Given the description of an element on the screen output the (x, y) to click on. 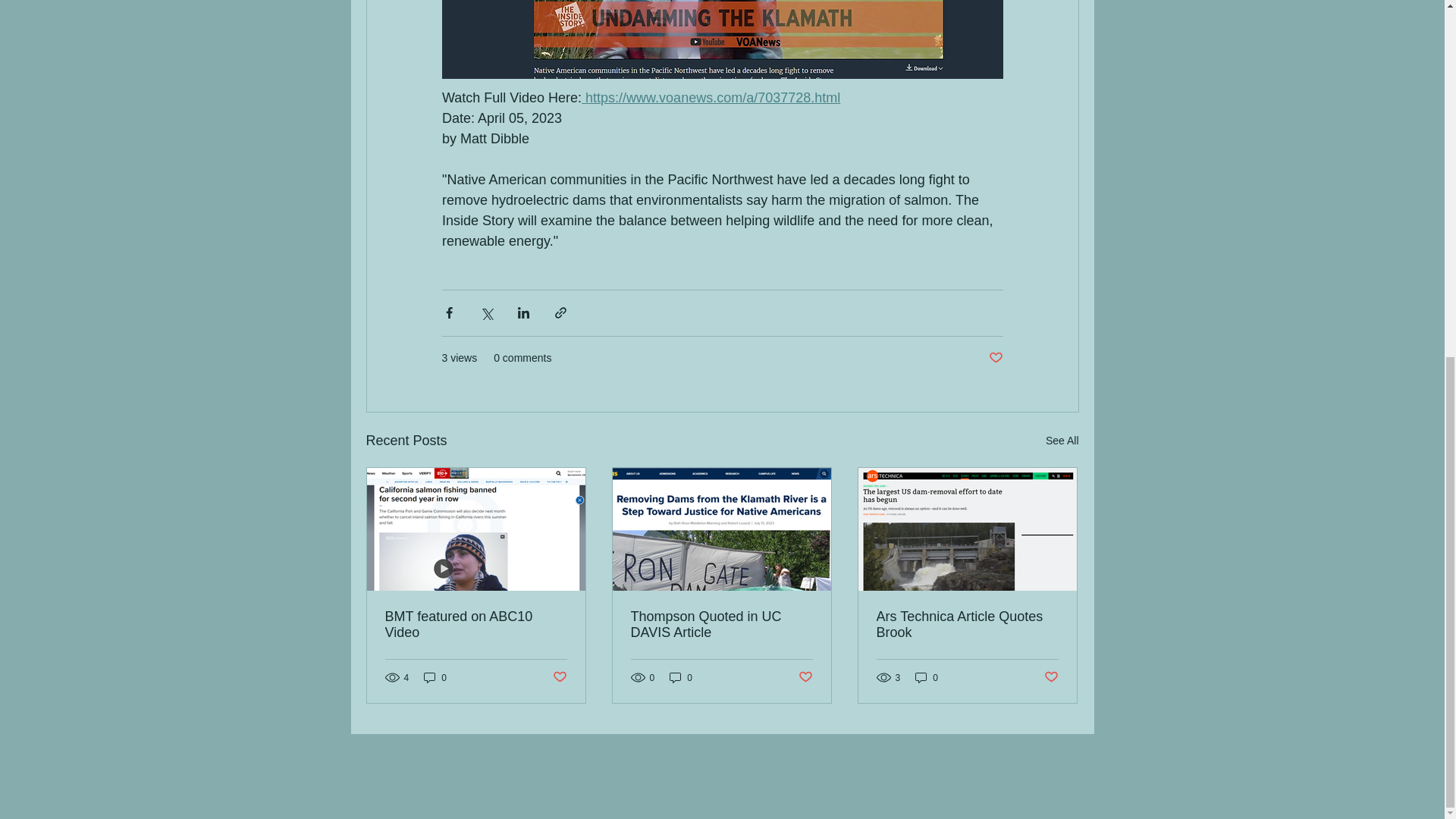
0 (435, 677)
Post not marked as liked (558, 677)
BMT featured on ABC10 Video (476, 624)
Post not marked as liked (995, 358)
Thompson Quoted in UC DAVIS Article (721, 624)
See All (1061, 440)
0 (681, 677)
